Given the description of an element on the screen output the (x, y) to click on. 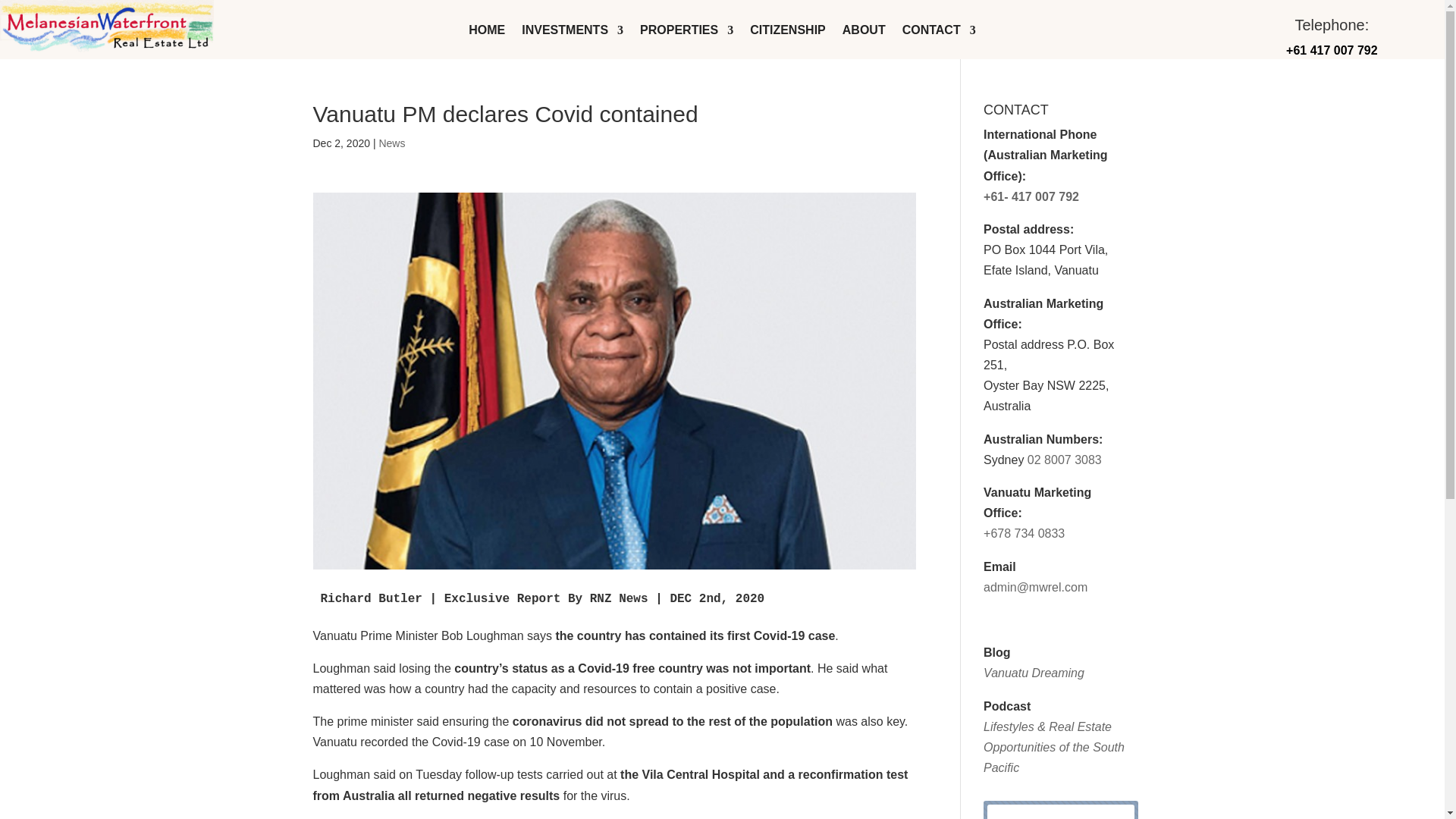
02 8007 3083 (1064, 459)
INVESTMENTS (572, 33)
Vanuatu Dreaming (1034, 672)
PROPERTIES (686, 33)
ABOUT (864, 33)
CITIZENSHIP (787, 33)
News (391, 143)
CONTACT (938, 33)
HOME (486, 33)
MWREL-logo-transparent (107, 26)
